Given the description of an element on the screen output the (x, y) to click on. 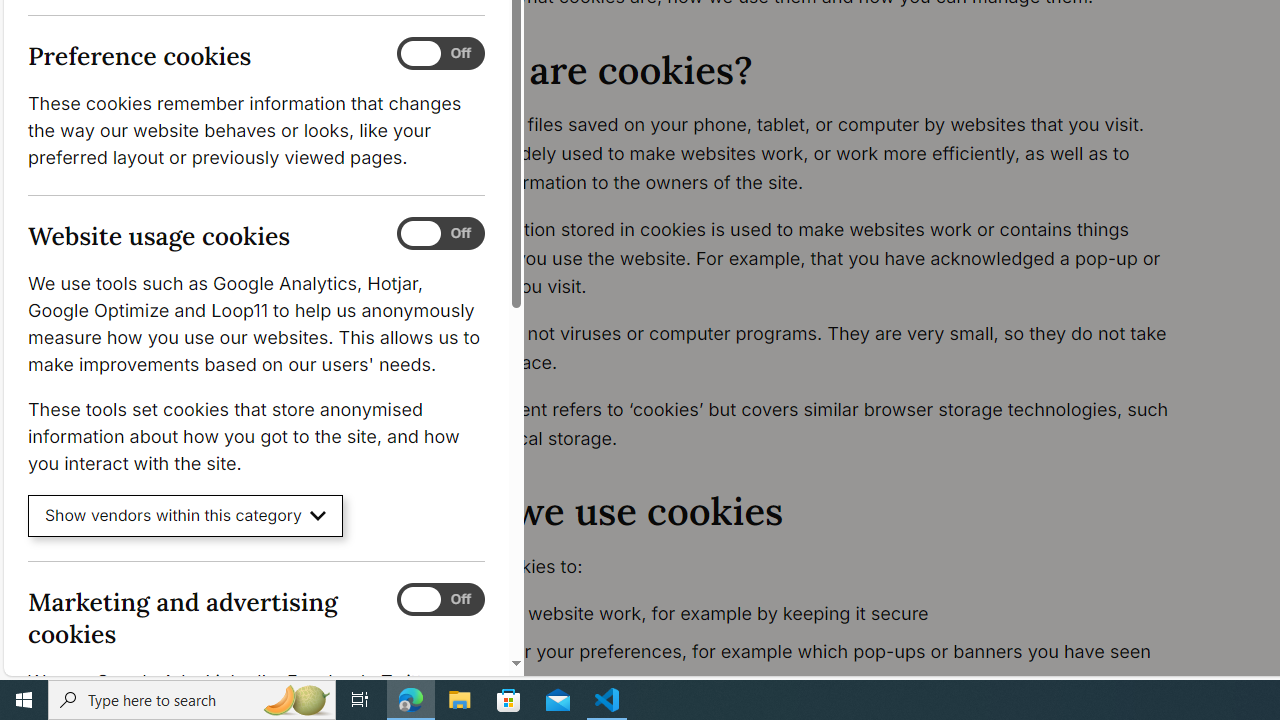
Preference cookies (440, 53)
Show vendors within this category (185, 516)
Marketing and advertising cookies (440, 599)
Website usage cookies (440, 233)
make our website work, for example by keeping it secure (818, 614)
